Given the description of an element on the screen output the (x, y) to click on. 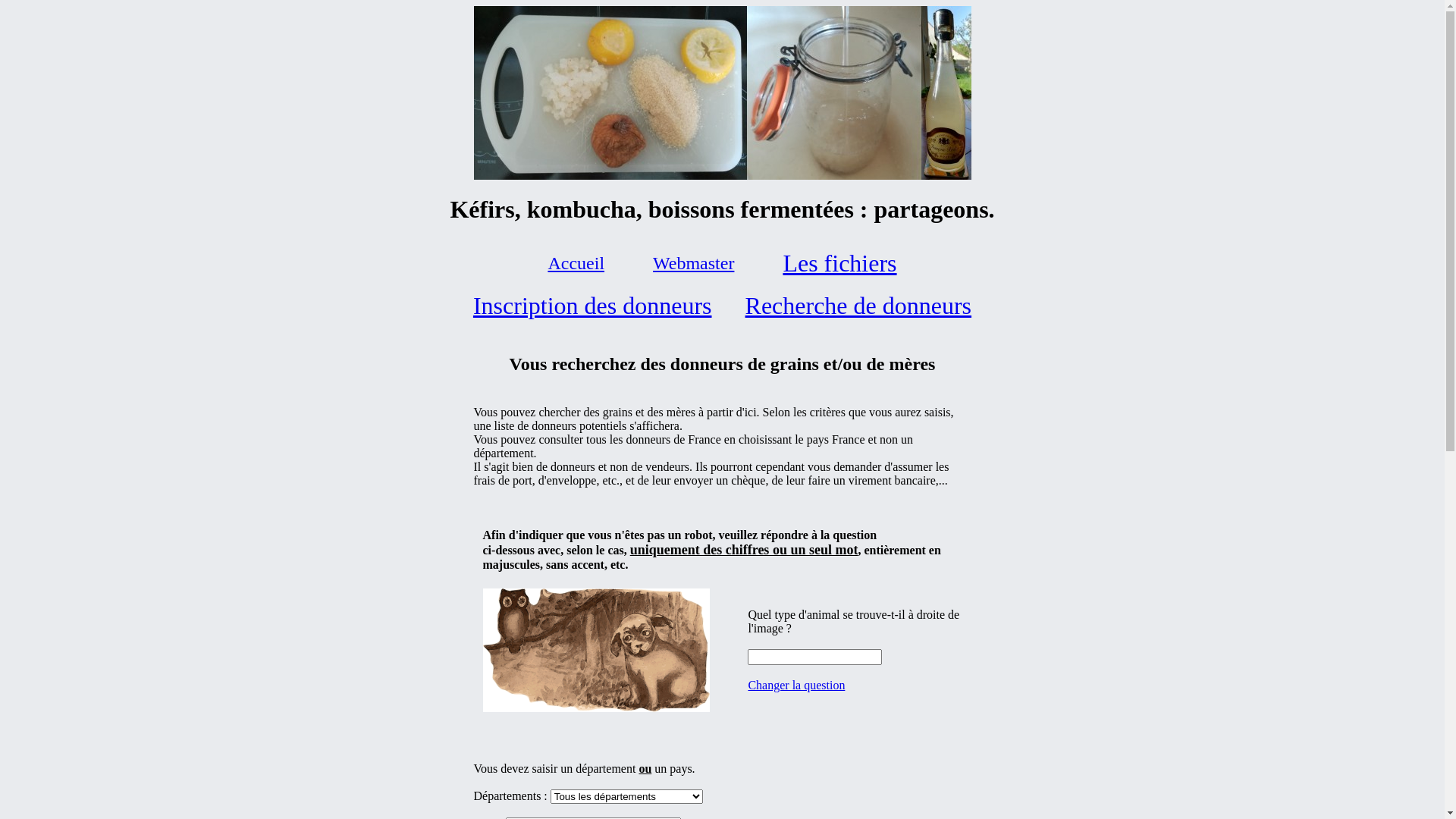
Les fichiers Element type: text (839, 262)
Webmaster Element type: text (693, 263)
Accueil Element type: text (575, 263)
Changer la question Element type: text (795, 684)
Inscription des donneurs Element type: text (592, 305)
Recherche de donneurs Element type: text (858, 305)
